Given the description of an element on the screen output the (x, y) to click on. 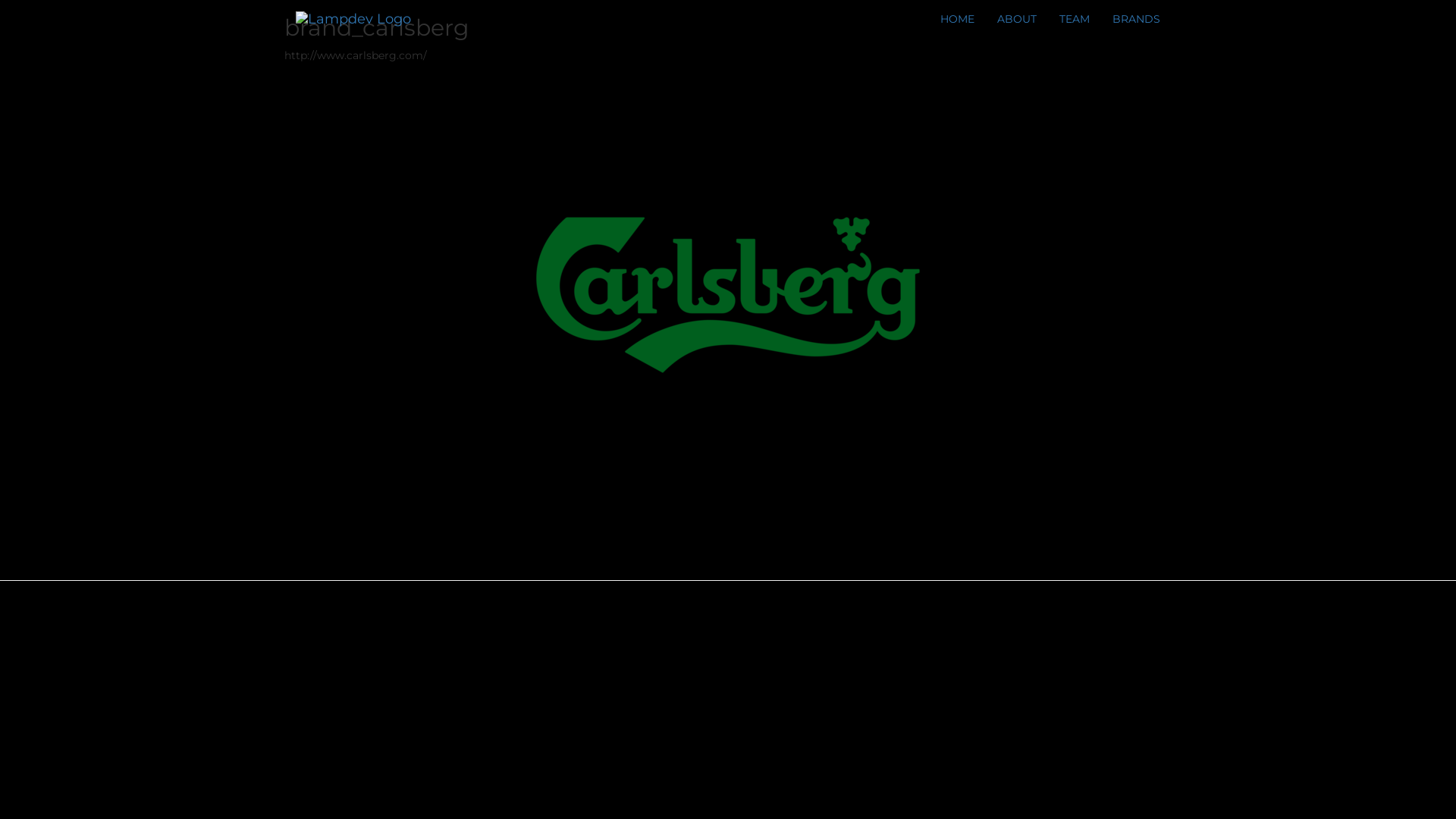
BRANDS Element type: text (1136, 18)
HOME Element type: text (956, 18)
ABOUT Element type: text (1016, 18)
TEAM Element type: text (1074, 18)
